Given the description of an element on the screen output the (x, y) to click on. 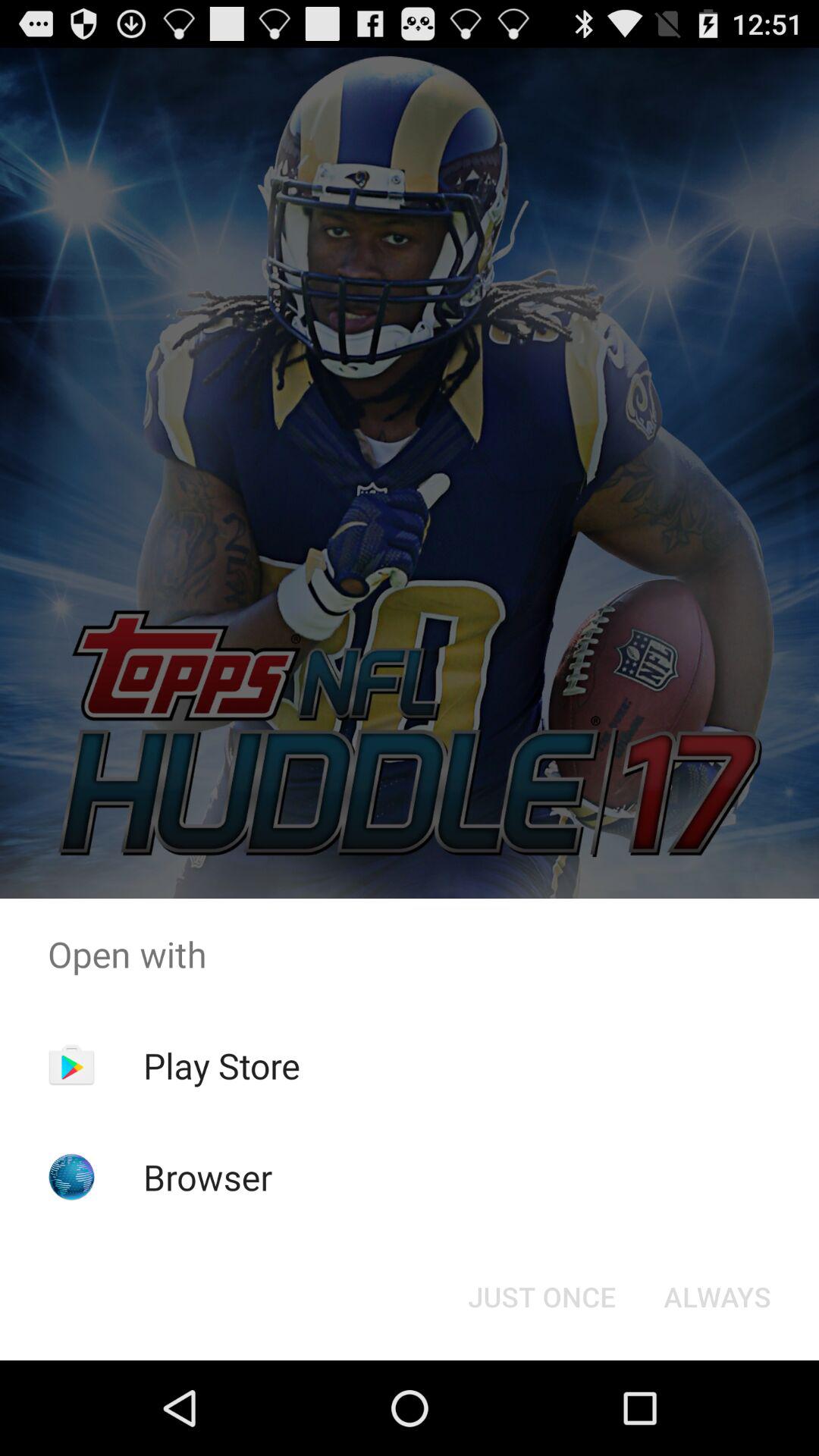
open item next to the just once item (717, 1296)
